Given the description of an element on the screen output the (x, y) to click on. 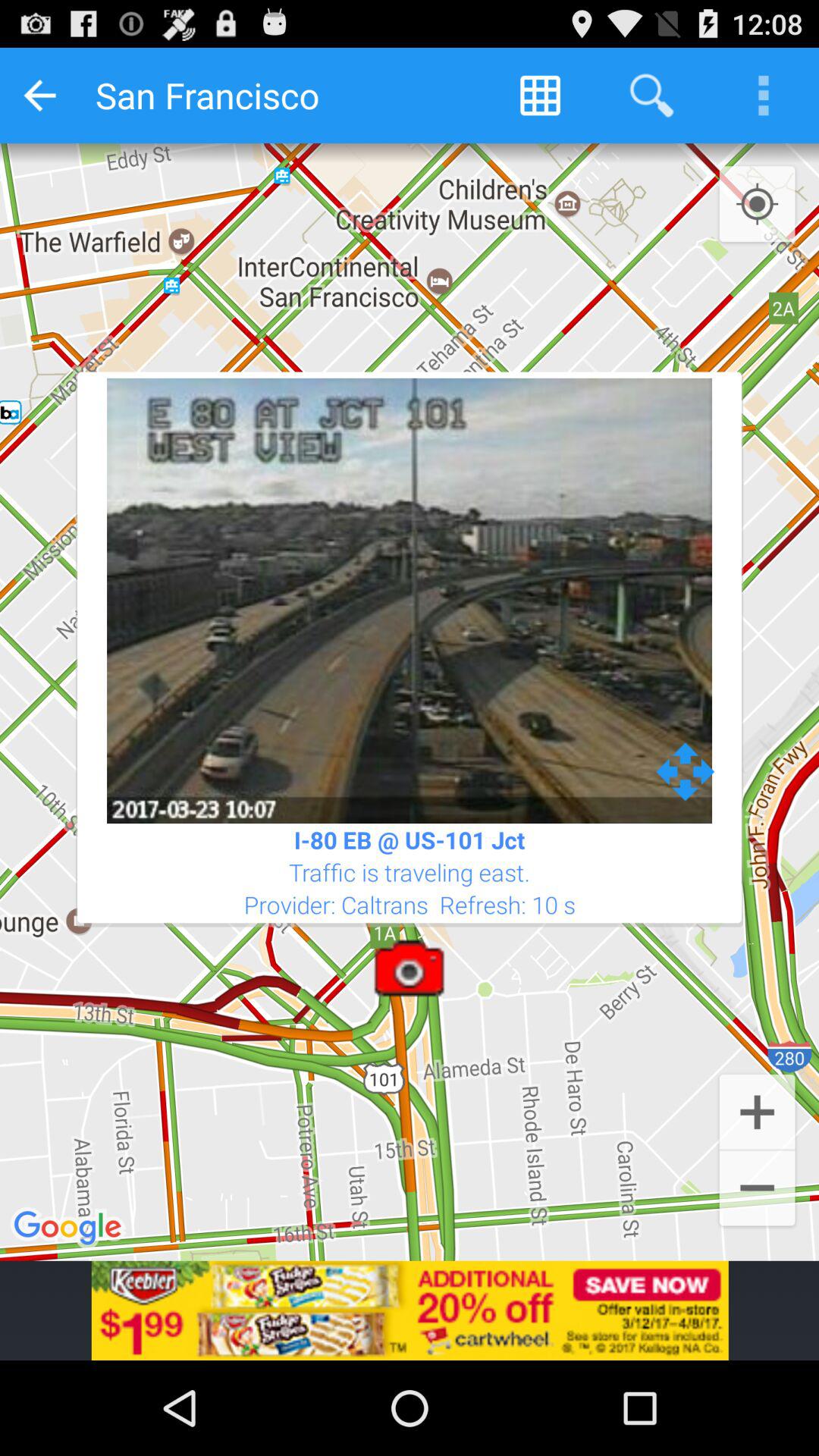
visit advertisement (409, 1310)
